Given the description of an element on the screen output the (x, y) to click on. 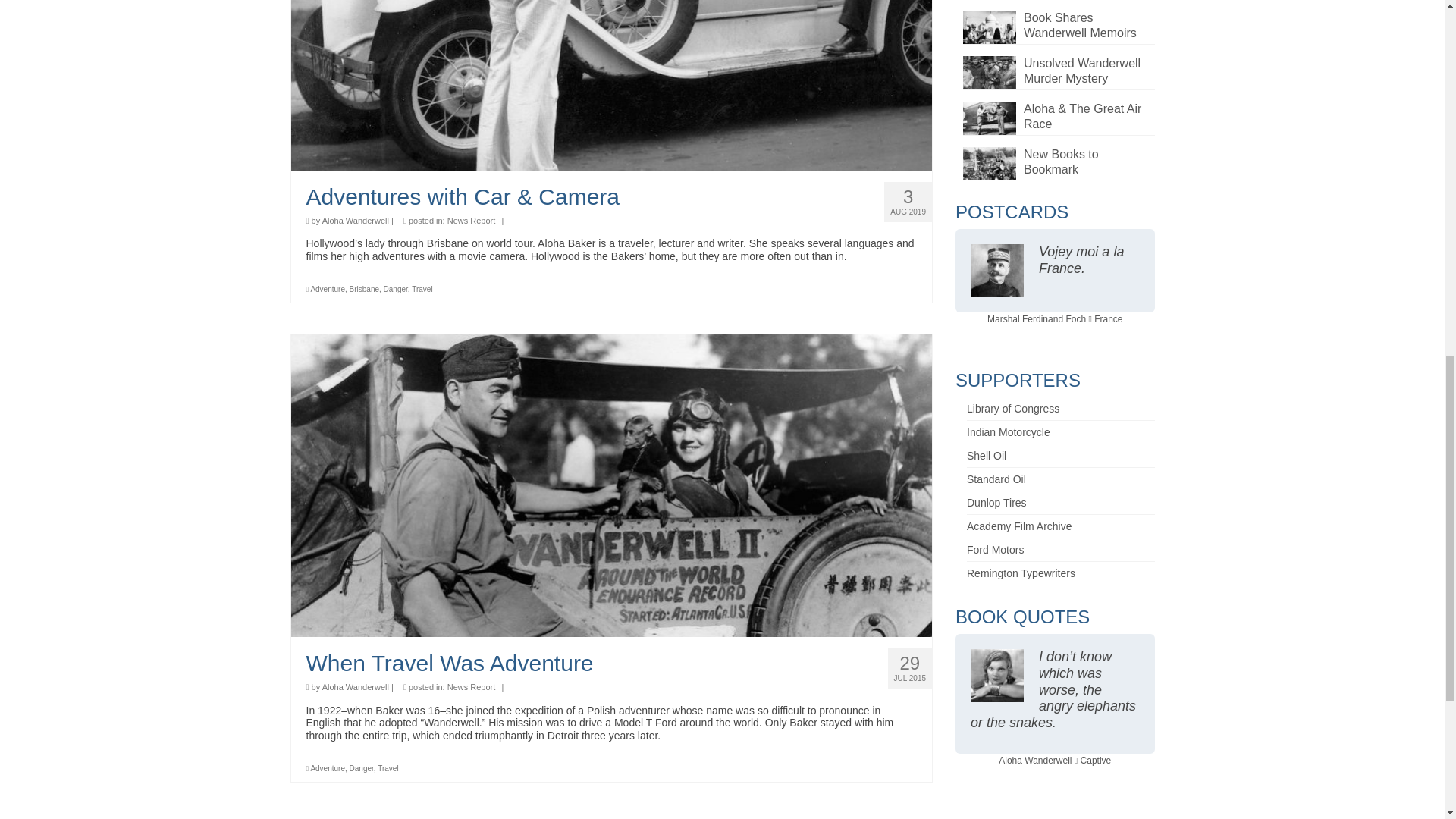
Danger (395, 289)
Aloha Wanderwell (354, 686)
News Report (471, 220)
Aloha Wanderwell (354, 220)
Adventure (327, 768)
Travel (422, 289)
News Report (471, 686)
Danger (361, 768)
When Travel Was Adventure (611, 662)
Adventure (327, 289)
Brisbane (363, 289)
